Given the description of an element on the screen output the (x, y) to click on. 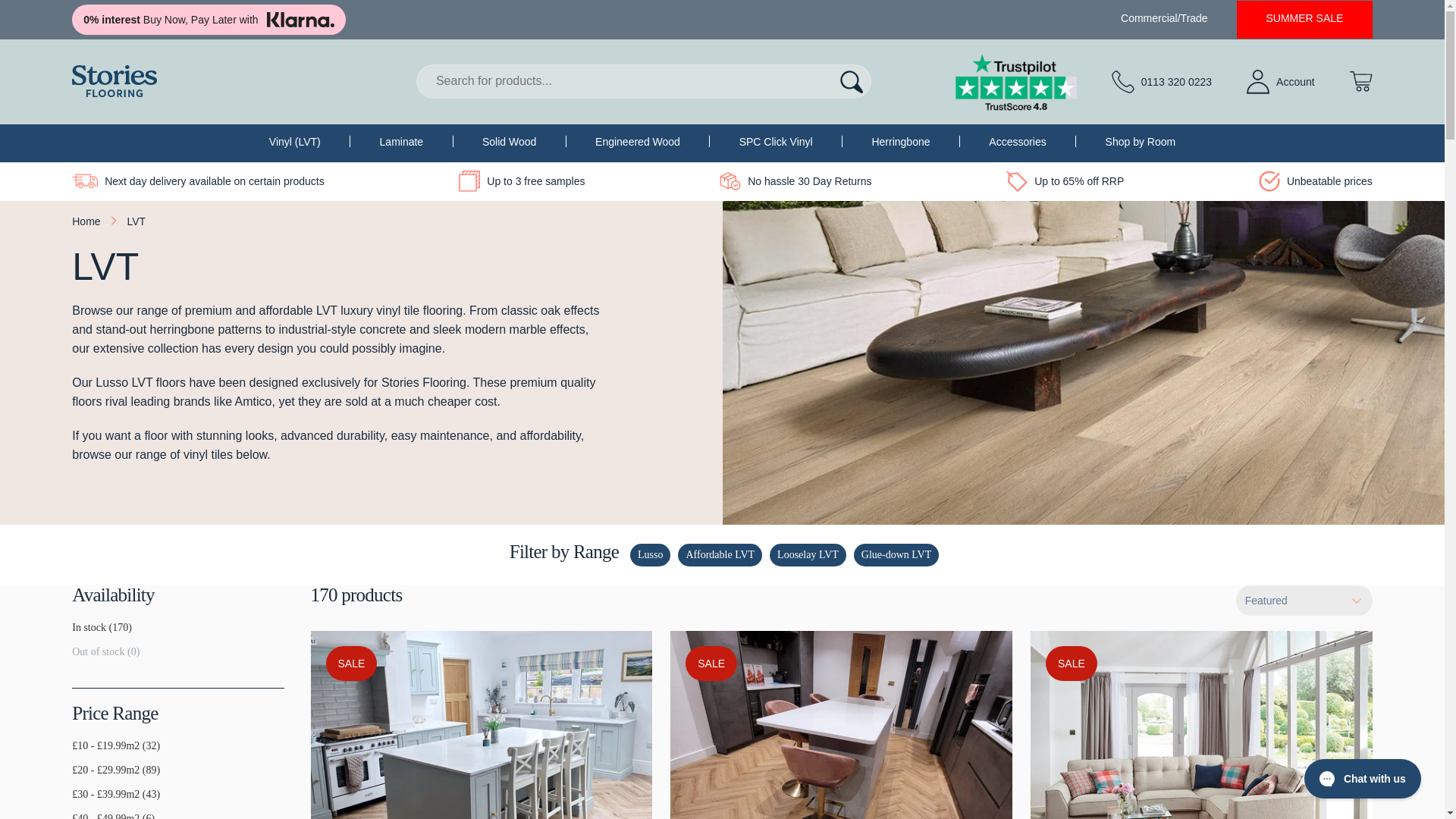
SUMMER SALE (1303, 18)
Account (1280, 81)
0 (77, 657)
Laminate (401, 141)
Call us (1161, 81)
Read our reviews on TrustPilot (1016, 81)
Stories Flooring - Leading Retailers of LVT  (114, 81)
Klarna finance options (207, 19)
SUMMER SALE (1303, 18)
Klarna Logo (300, 19)
1 (77, 633)
Stories Flooring (114, 81)
Solid Wood (508, 141)
My account (1280, 81)
0113 320 0223 (1161, 81)
